Given the description of an element on the screen output the (x, y) to click on. 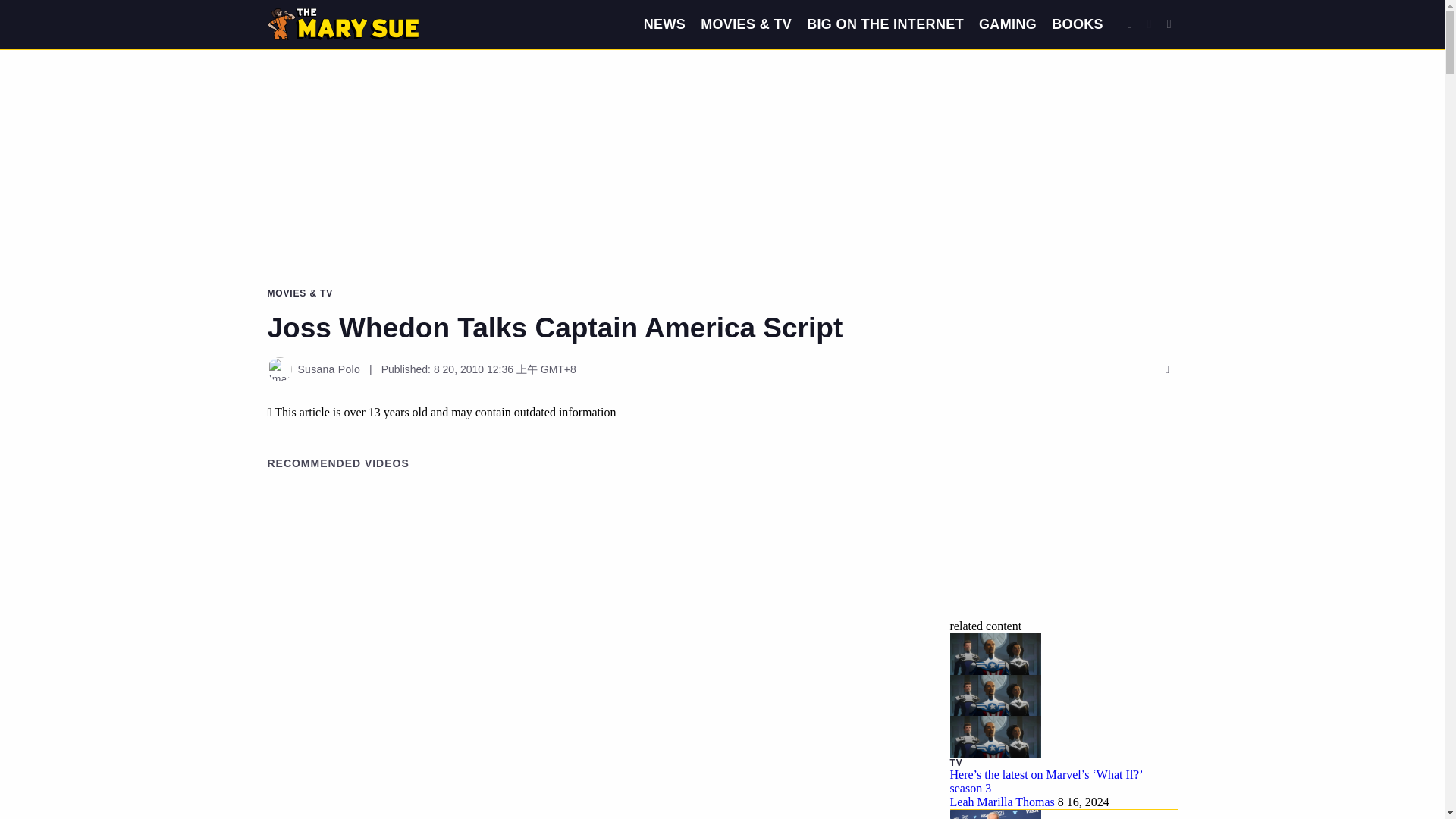
BOOKS (1077, 23)
NEWS (664, 23)
BIG ON THE INTERNET (884, 23)
GAMING (1007, 23)
